Given the description of an element on the screen output the (x, y) to click on. 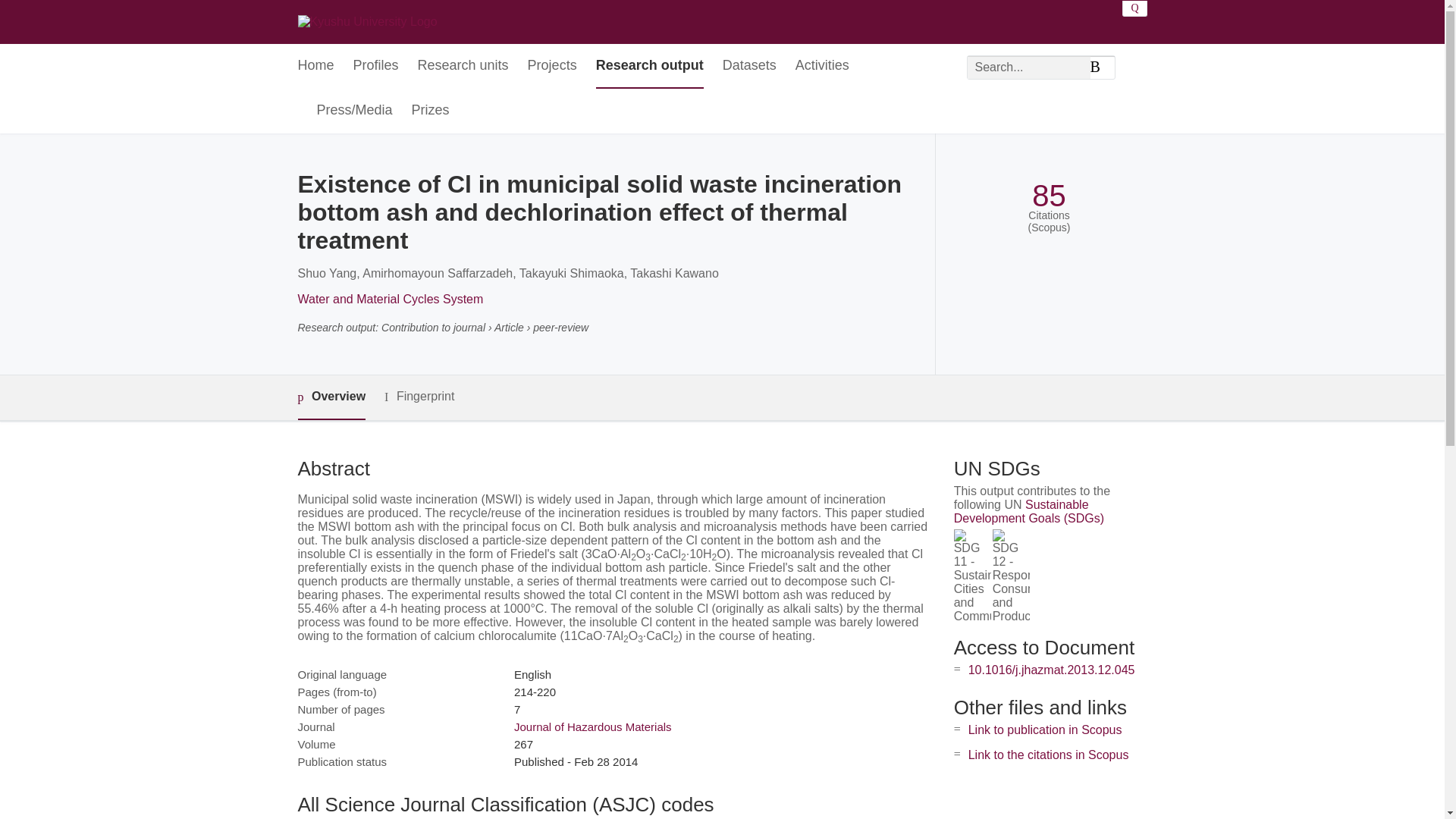
Projects (551, 66)
Link to the citations in Scopus (1048, 754)
Fingerprint (419, 396)
Activities (821, 66)
Link to publication in Scopus (1045, 729)
85 (1048, 195)
Profiles (375, 66)
Datasets (749, 66)
Kyushu University Home (366, 21)
